Given the description of an element on the screen output the (x, y) to click on. 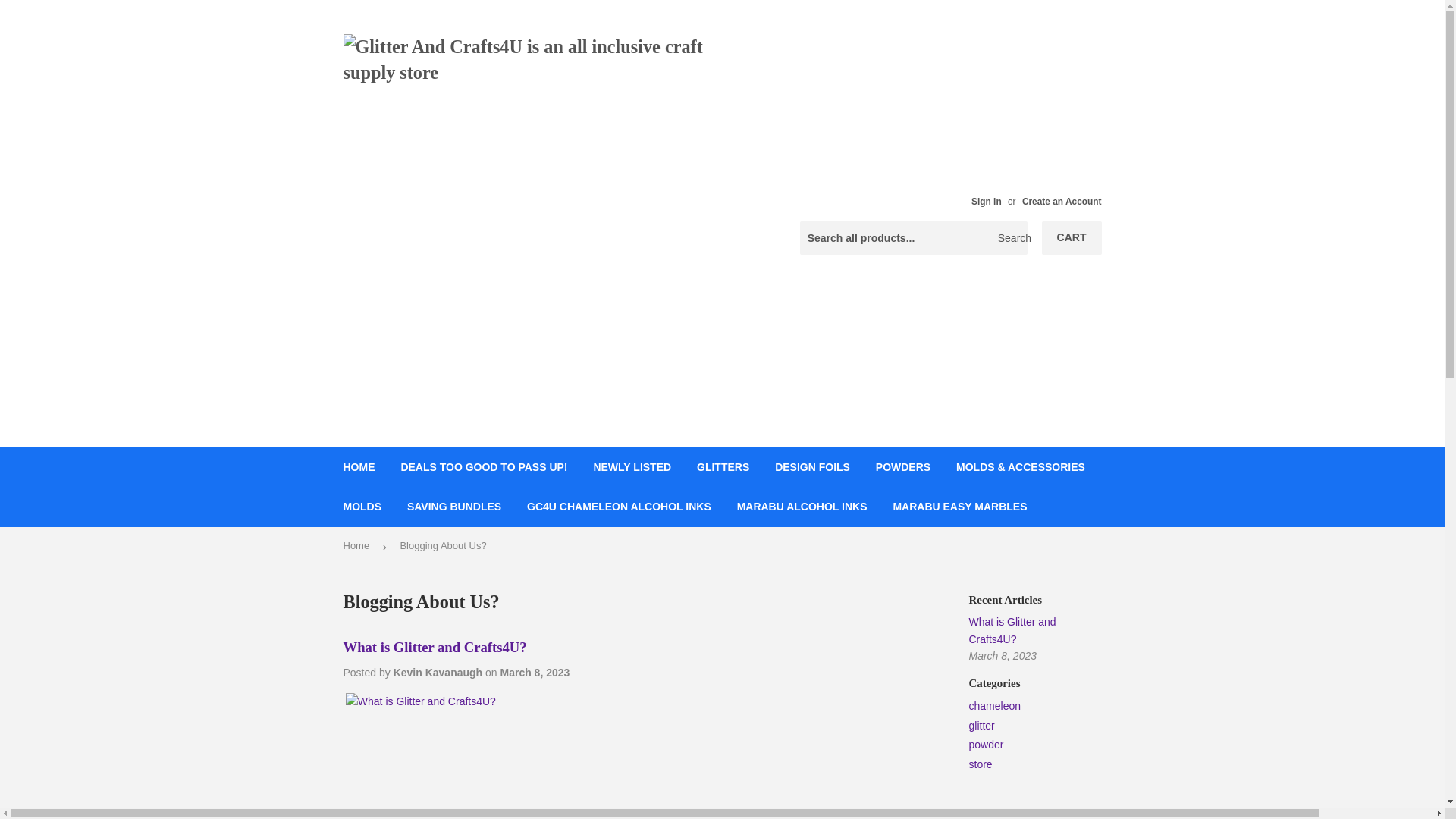
Show articles tagged store (980, 764)
Create an Account (1062, 201)
Sign in (986, 201)
CART (1072, 237)
Show articles tagged chameleon (995, 705)
Show articles tagged glitter (981, 725)
Show articles tagged powder (986, 744)
Search (1009, 238)
